Given the description of an element on the screen output the (x, y) to click on. 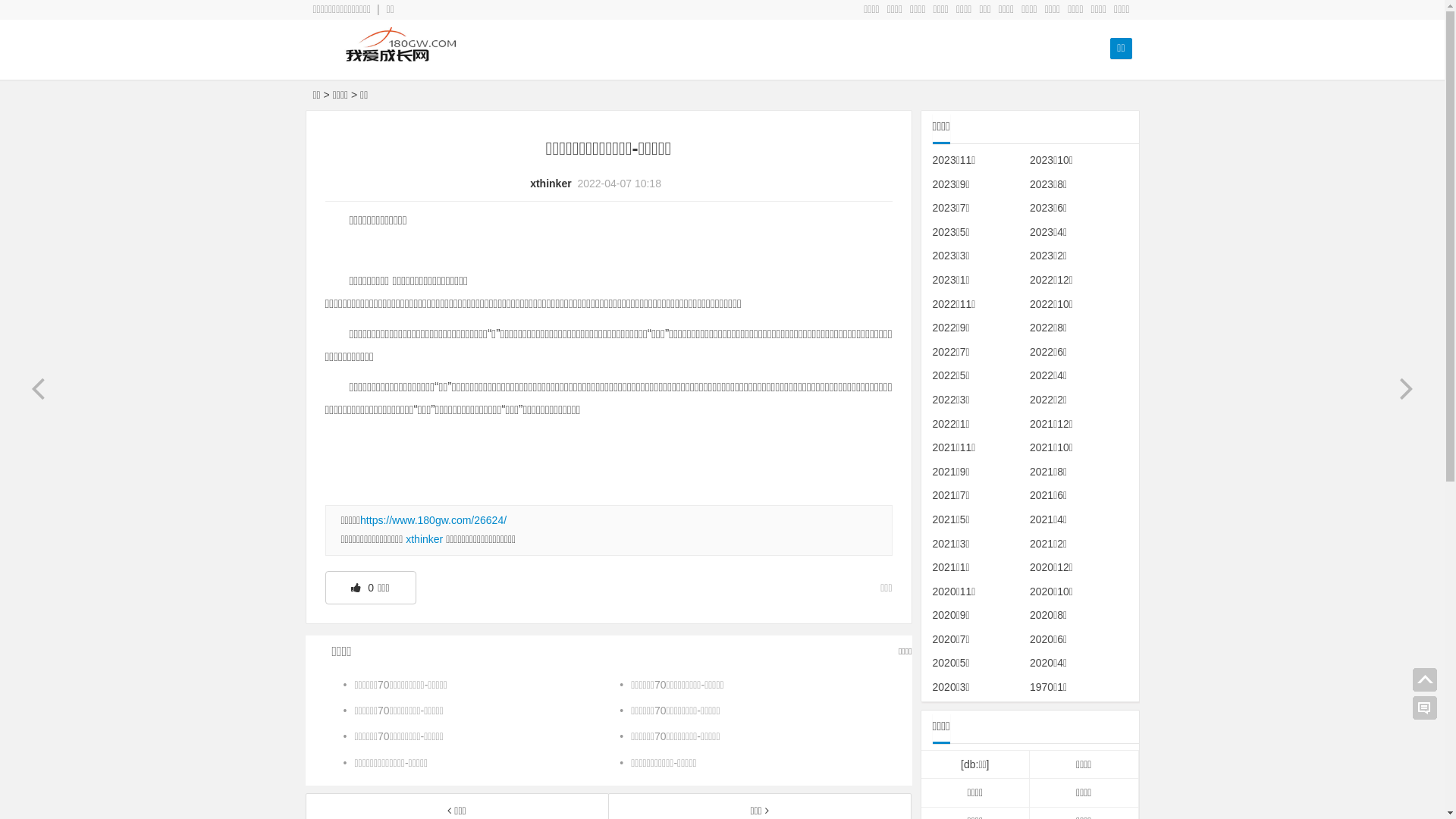
xthinker Element type: text (423, 539)
xthinker Element type: text (550, 183)
https://www.180gw.com/26624/ Element type: text (433, 520)
